Given the description of an element on the screen output the (x, y) to click on. 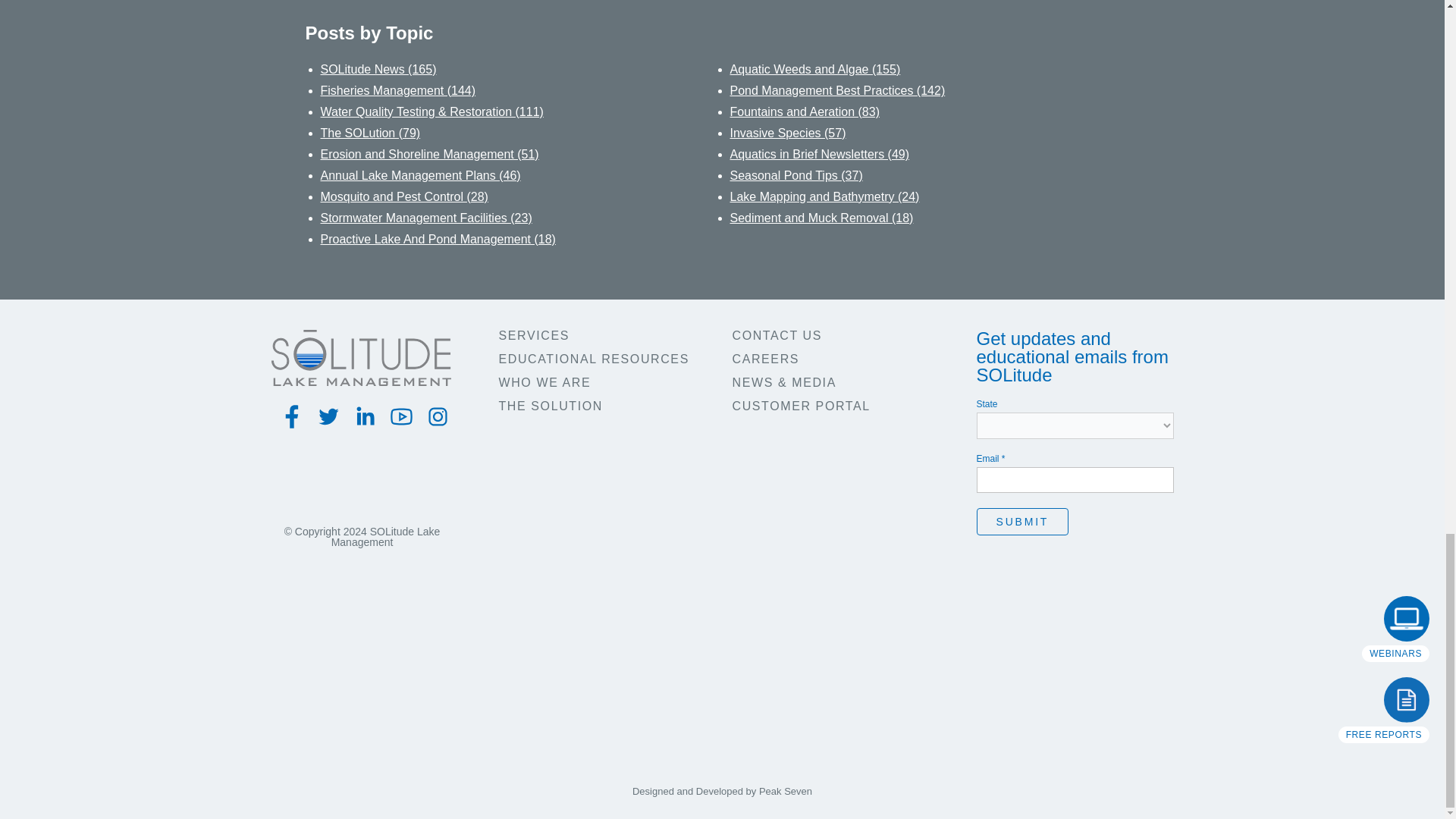
LinkedIn (365, 416)
Facebook (292, 416)
Youtube (401, 416)
Instagram (438, 416)
Twitter (328, 416)
